Given the description of an element on the screen output the (x, y) to click on. 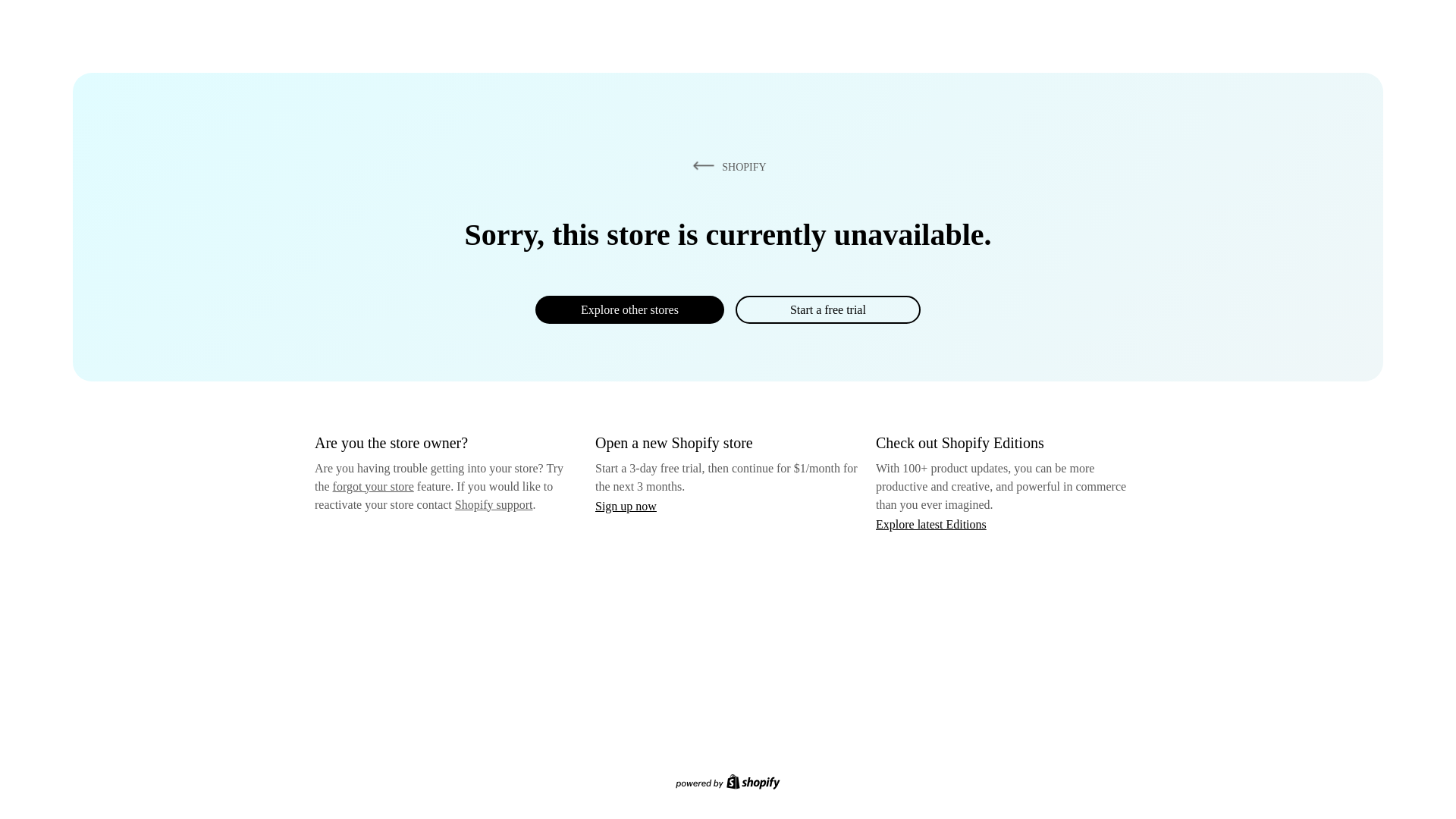
Sign up now (625, 505)
Explore other stores (629, 309)
Start a free trial (827, 309)
SHOPIFY (726, 166)
Shopify support (493, 504)
Explore latest Editions (931, 523)
forgot your store (373, 486)
